Given the description of an element on the screen output the (x, y) to click on. 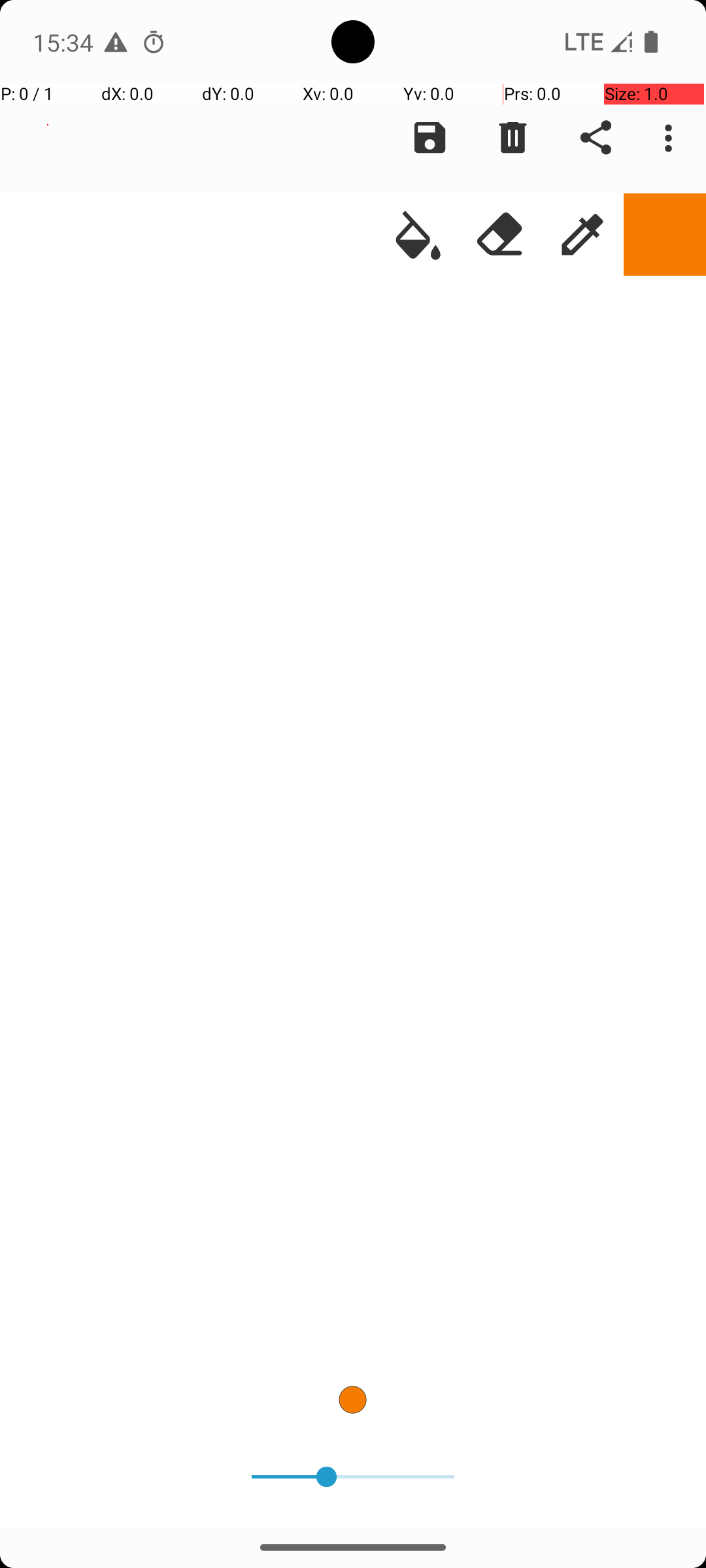
Clear Element type: android.widget.Button (512, 137)
Bucket fill Element type: android.widget.ImageView (417, 234)
Eraser Element type: android.widget.ImageView (499, 234)
Eyedropper Element type: android.widget.ImageView (582, 234)
Change color Element type: android.widget.ImageView (664, 234)
